Given the description of an element on the screen output the (x, y) to click on. 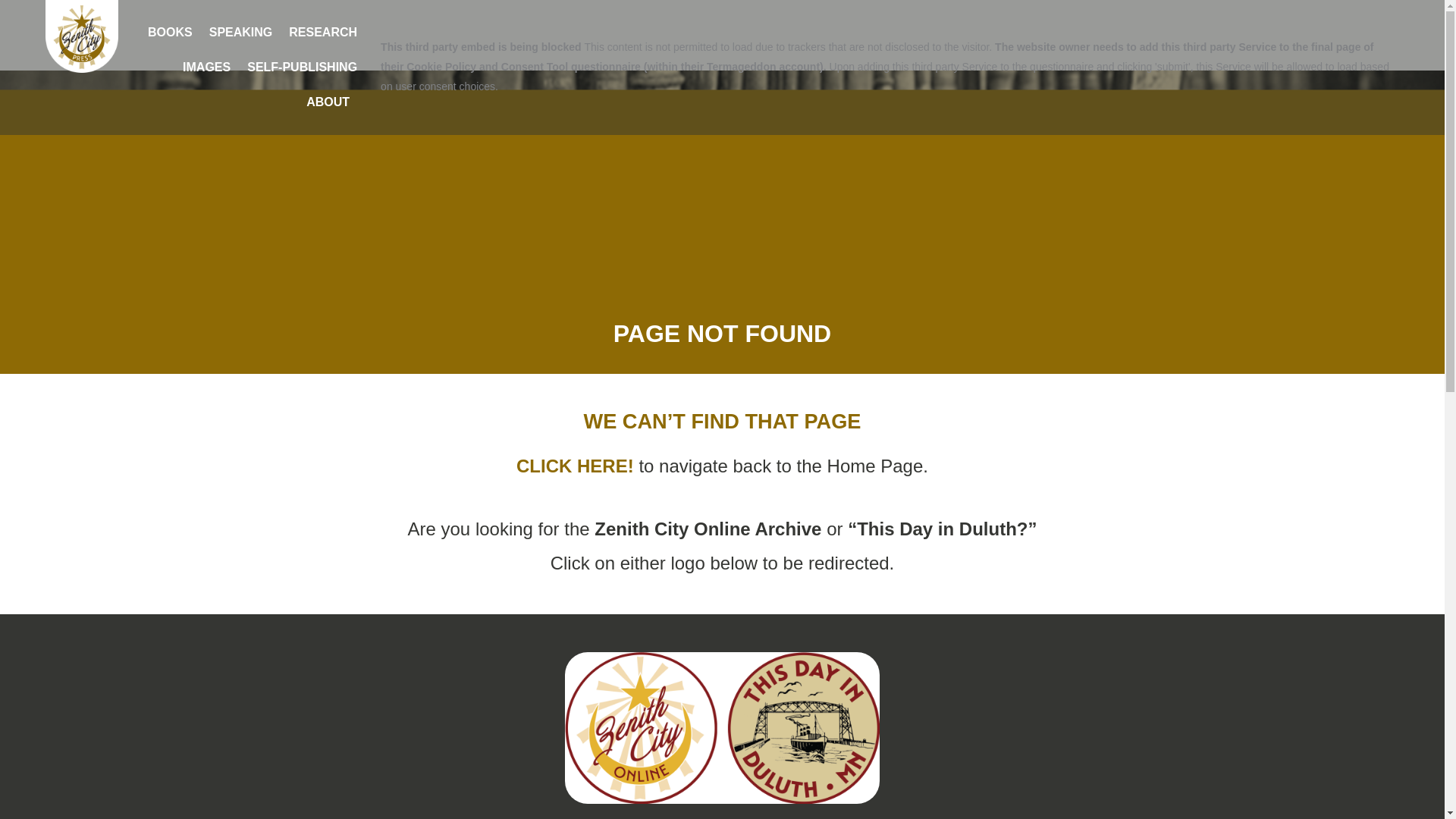
SPEAKING (240, 32)
SELF-PUBLISHING (301, 67)
CLICK HERE! (577, 465)
ABOUT (331, 102)
Page 7 (721, 545)
BOOKS (169, 32)
IMAGES (206, 67)
RESEARCH (323, 32)
